Given the description of an element on the screen output the (x, y) to click on. 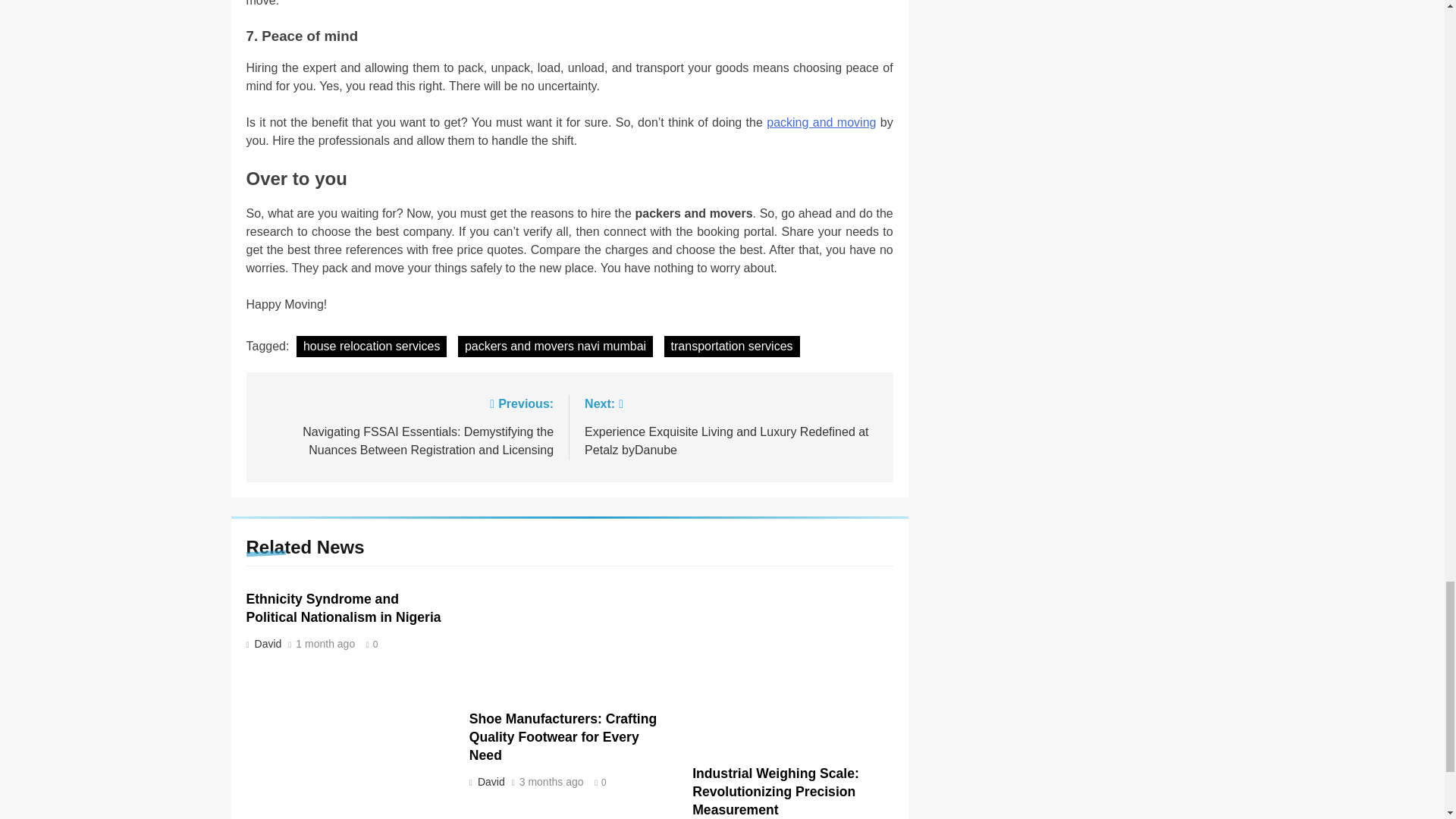
Shoe Manufacturers: Crafting Quality Footwear for Every Need (562, 736)
1 month ago (325, 644)
packers and movers navi mumbai (555, 346)
packing and moving (821, 122)
Ethnicity Syndrome and Political Nationalism in Nigeria (343, 607)
David (489, 781)
3 months ago (551, 782)
David (266, 644)
house relocation services (371, 346)
transportation services (731, 346)
